Given the description of an element on the screen output the (x, y) to click on. 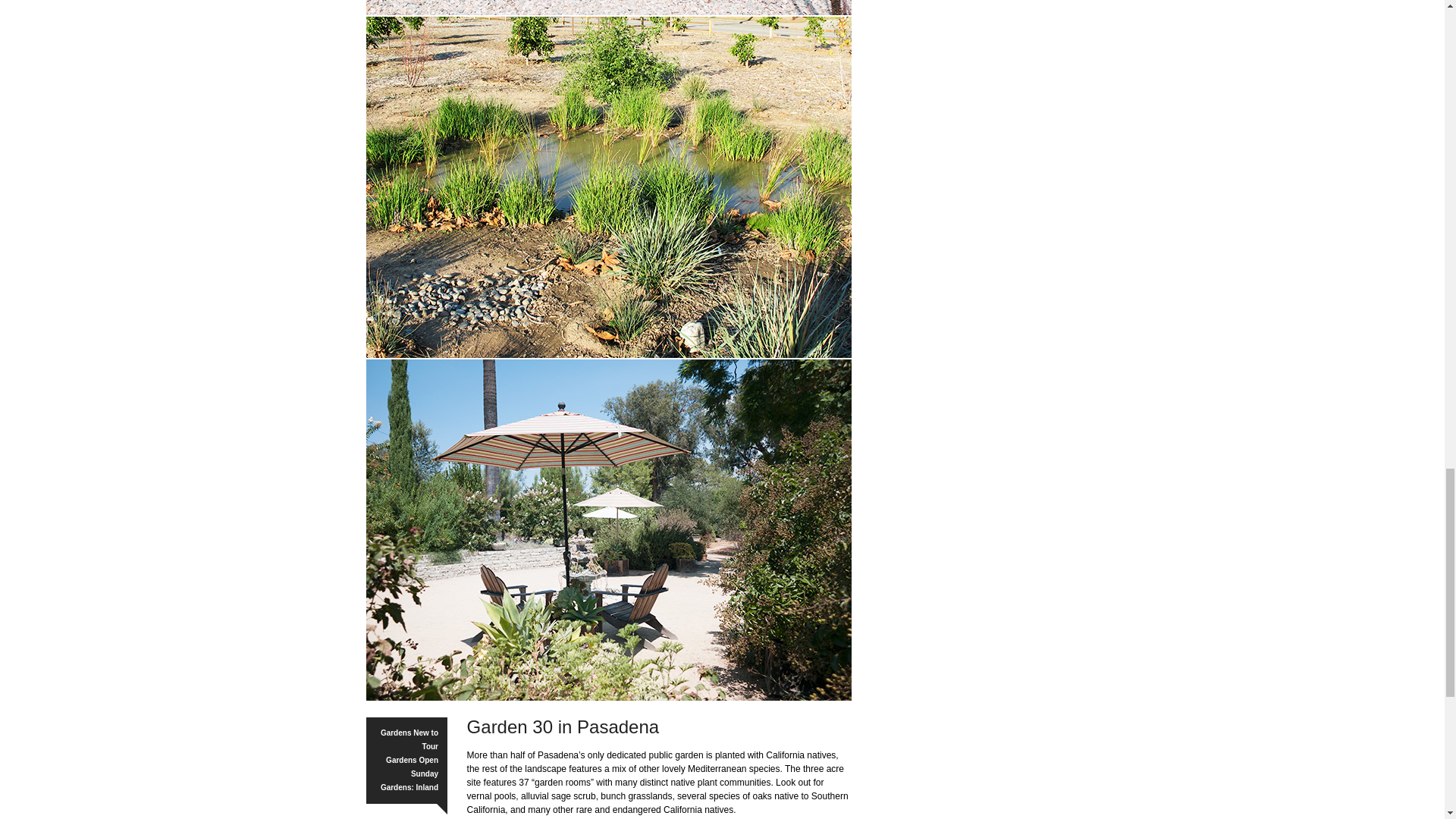
Gardens New to Tour (409, 747)
Gardens Open Sunday (411, 773)
Garden 30 in Pasadena (607, 7)
Gardens: Inland (409, 793)
